Given the description of an element on the screen output the (x, y) to click on. 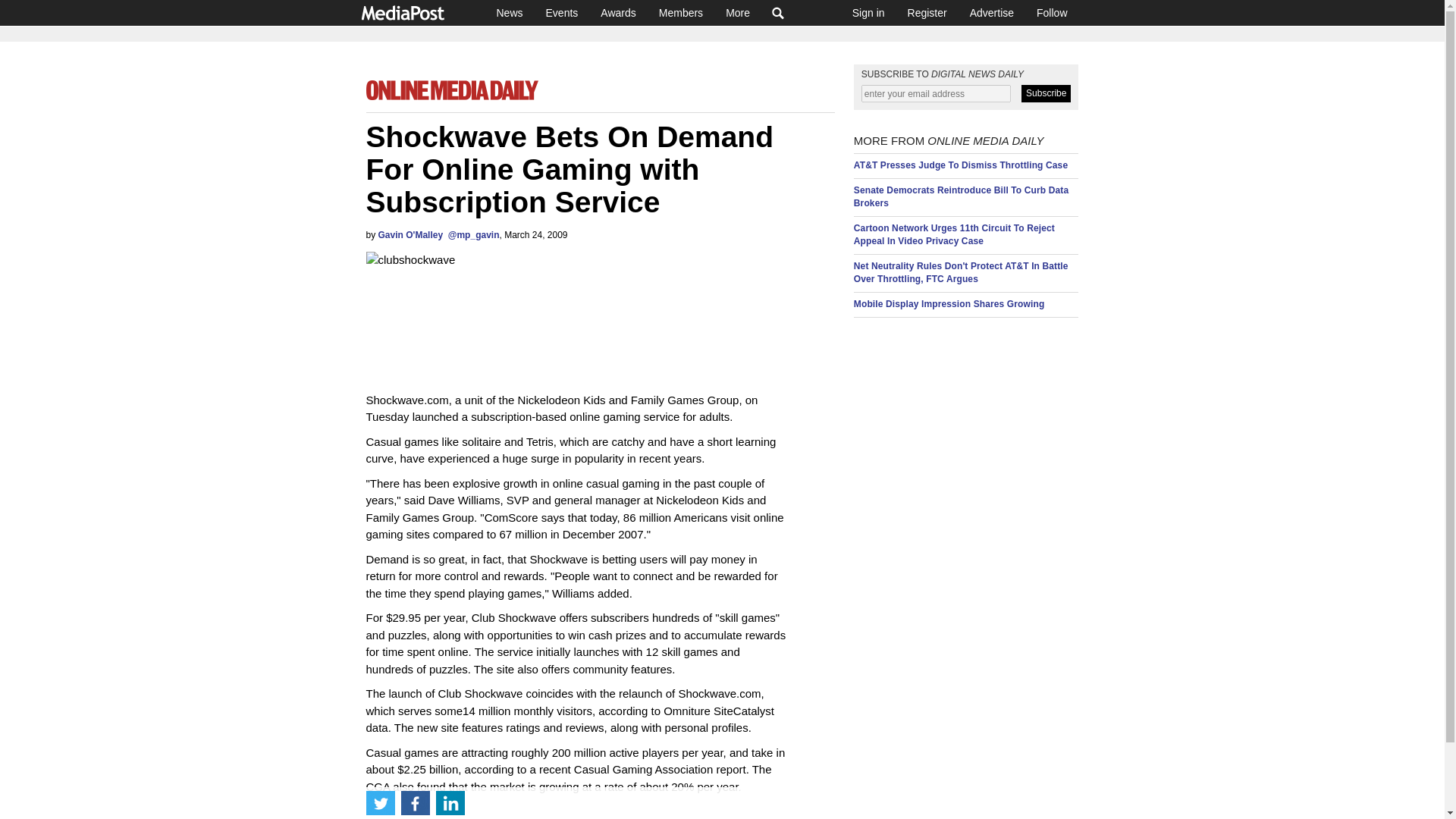
Share on LinkedIn (449, 802)
Share on Facebook (414, 802)
Subscribe (1046, 93)
News (509, 12)
clubshockwave-b (456, 312)
Share on Twitter (379, 802)
